Given the description of an element on the screen output the (x, y) to click on. 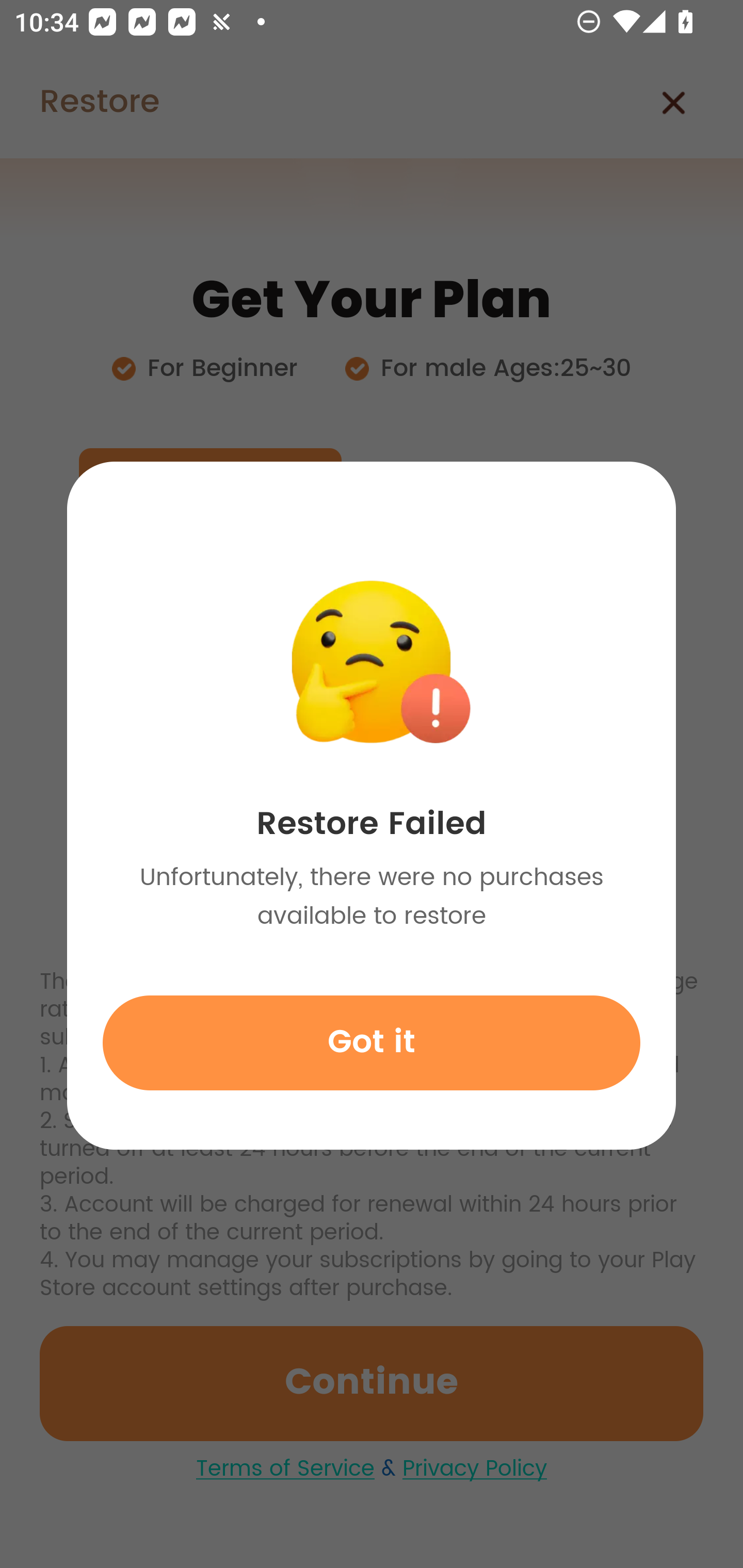
Got it (371, 1042)
